Given the description of an element on the screen output the (x, y) to click on. 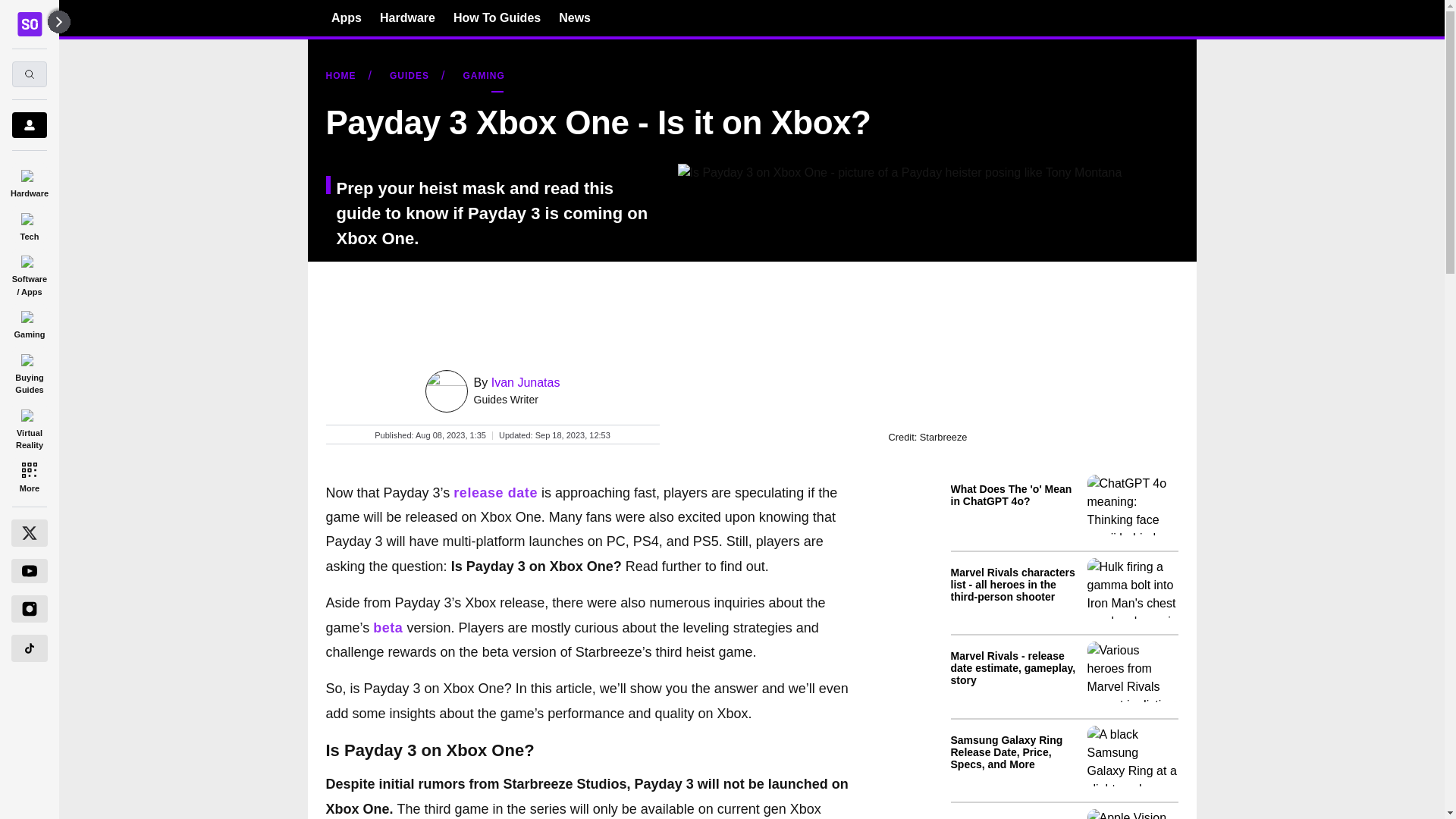
Apps (346, 18)
Tech (28, 224)
How To Guides (496, 18)
More (28, 476)
News (575, 18)
Gaming (28, 322)
Hardware (407, 18)
Hardware (28, 180)
